Given the description of an element on the screen output the (x, y) to click on. 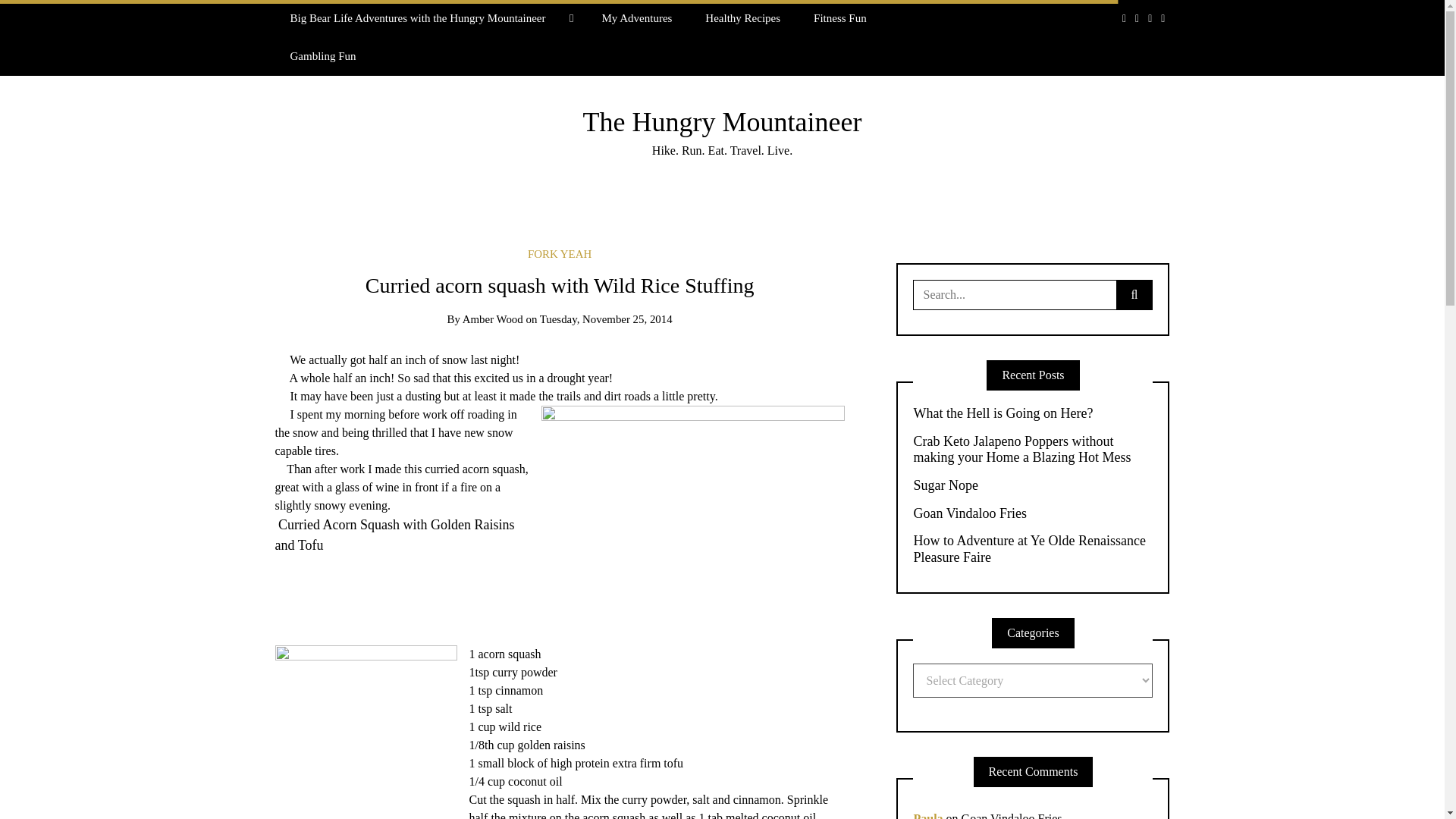
Gambling Fun (323, 56)
My Adventures (636, 18)
Healthy Recipes (742, 18)
Posts by Amber Wood (492, 318)
The Hungry Mountaineer (722, 122)
Tuesday, November 25, 2014 (606, 318)
Amber Wood (492, 318)
Fitness Fun (839, 18)
Big Bear Life Adventures with the Hungry Mountaineer (429, 18)
FORK YEAH (559, 254)
